Given the description of an element on the screen output the (x, y) to click on. 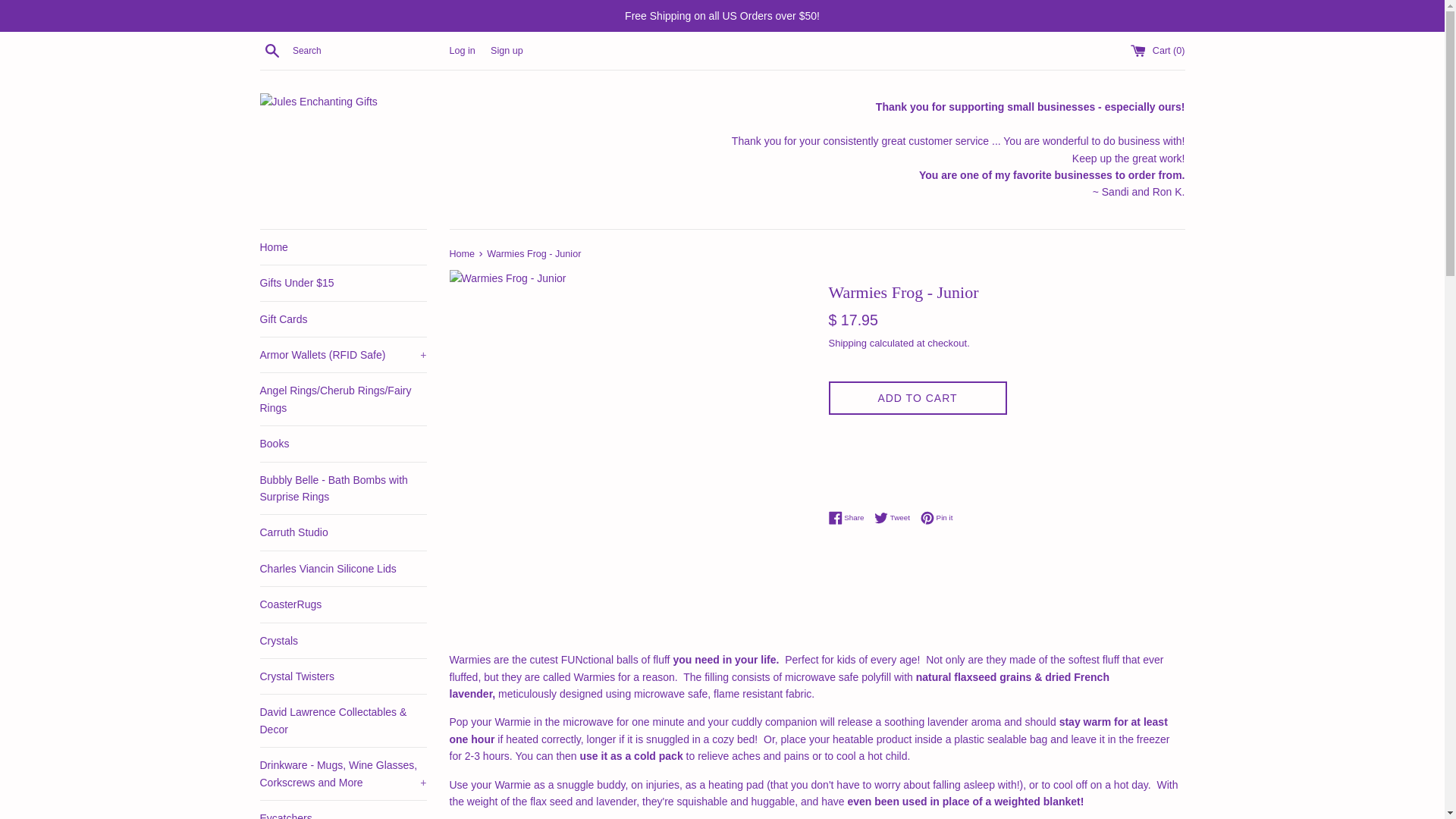
Share on Facebook (849, 517)
Home (342, 247)
Gift Cards (342, 319)
Crystal Twisters (342, 676)
Search (271, 49)
Bubbly Belle - Bath Bombs with Surprise Rings (342, 488)
CoasterRugs (342, 604)
Tweet on Twitter (896, 517)
Log in (461, 50)
Sign up (506, 50)
Crystals (342, 640)
Pin on Pinterest (936, 517)
Charles Viancin Silicone Lids (342, 568)
Books (342, 443)
Carruth Studio (342, 532)
